Given the description of an element on the screen output the (x, y) to click on. 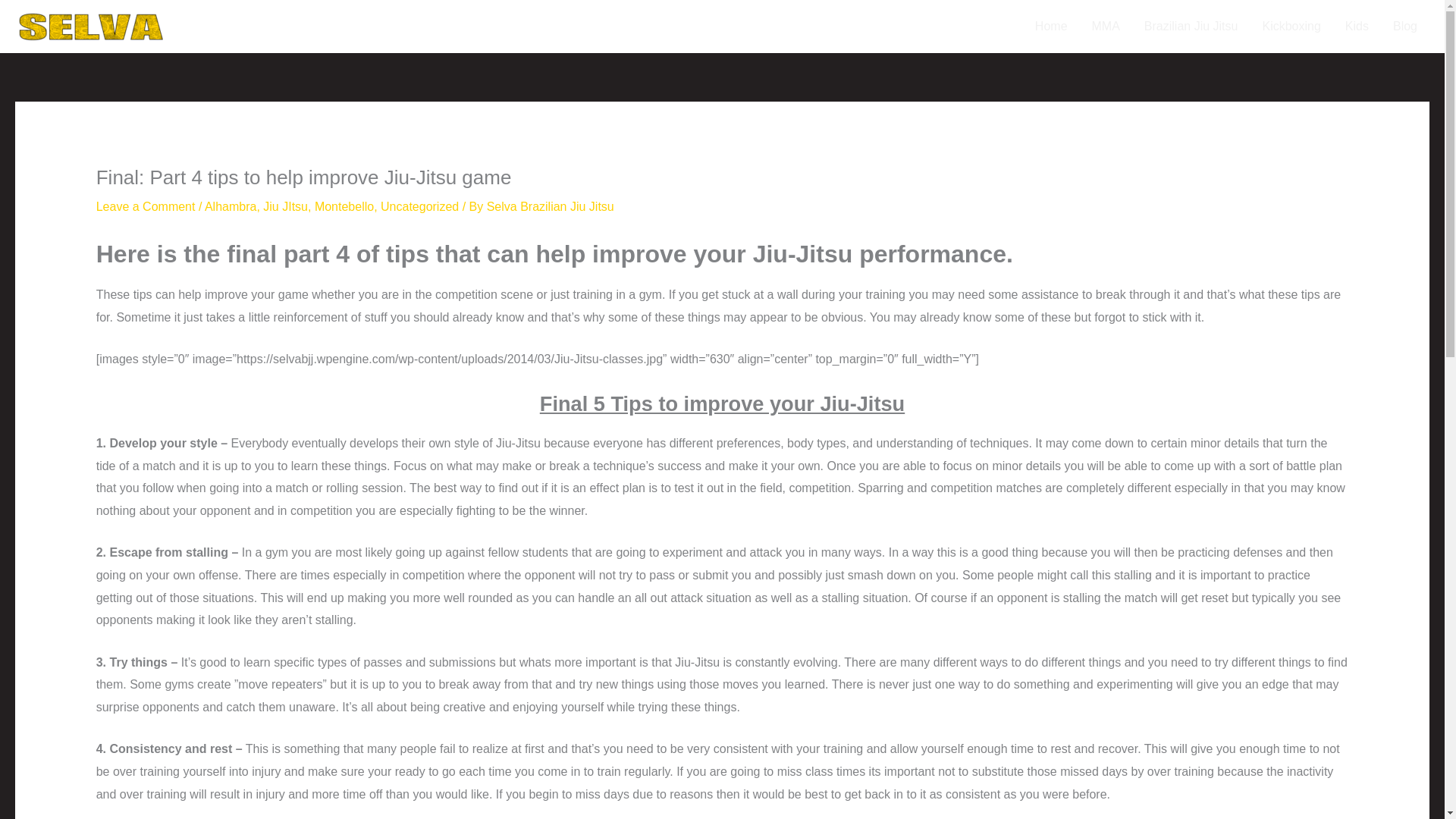
Jiu JItsu (285, 205)
Montebello (344, 205)
Uncategorized (419, 205)
Kids (1356, 26)
Alhambra (230, 205)
Selva Brazilian Jiu Jitsu (550, 205)
Brazilian Jiu Jitsu (1191, 26)
Blog (1404, 26)
Kickboxing (1290, 26)
MMA (1106, 26)
